Given the description of an element on the screen output the (x, y) to click on. 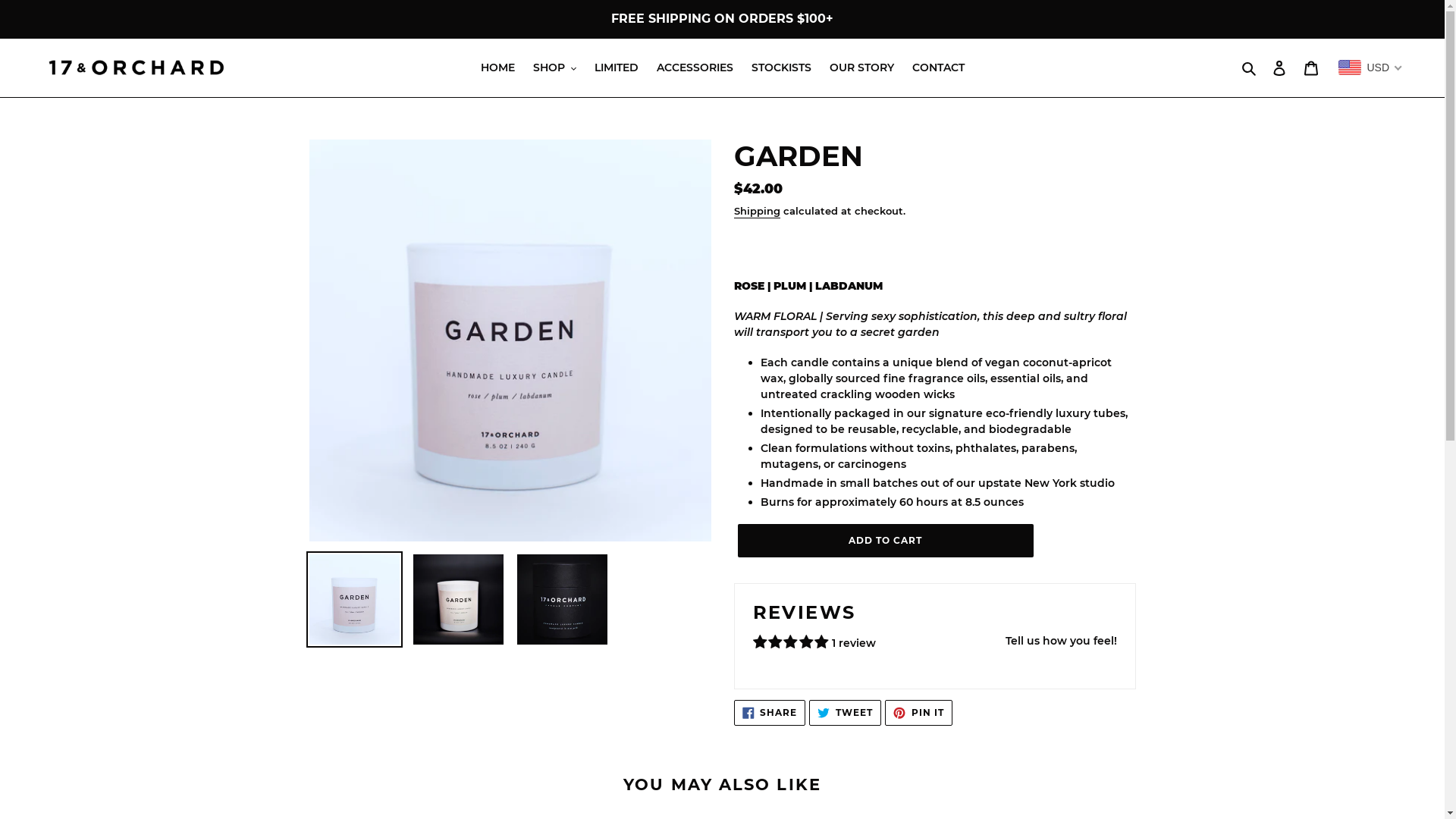
CONTACT Element type: text (937, 67)
HOME Element type: text (497, 67)
OUR STORY Element type: text (861, 67)
SHOP Element type: text (553, 67)
Shipping Element type: text (757, 211)
ACCESSORIES Element type: text (694, 67)
PIN IT
PIN ON PINTEREST Element type: text (918, 712)
Log in Element type: text (1279, 67)
FREE SHIPPING ON ORDERS $100+ Element type: text (722, 18)
Tell us how you feel! Element type: text (1061, 641)
SHARE
SHARE ON FACEBOOK Element type: text (770, 712)
LIMITED Element type: text (616, 67)
TWEET
TWEET ON TWITTER Element type: text (845, 712)
Cart Element type: text (1311, 67)
Search Element type: text (1249, 67)
STOCKISTS Element type: text (780, 67)
ADD TO CART Element type: text (884, 540)
